Given the description of an element on the screen output the (x, y) to click on. 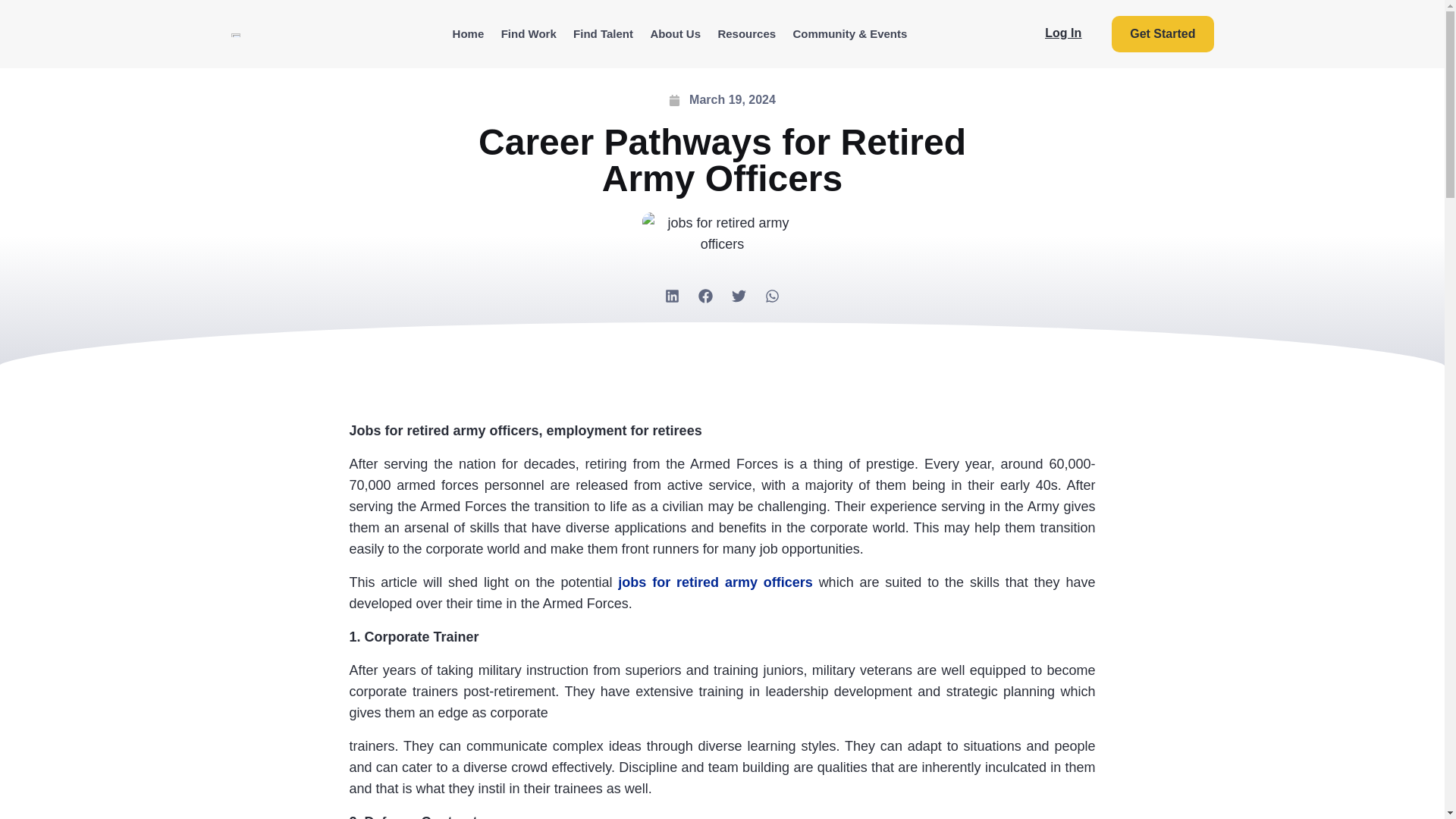
Find Talent (603, 34)
Home (468, 34)
Find Work (528, 34)
About Us (675, 34)
Career Pathways for Retired Army Officers (722, 233)
